Given the description of an element on the screen output the (x, y) to click on. 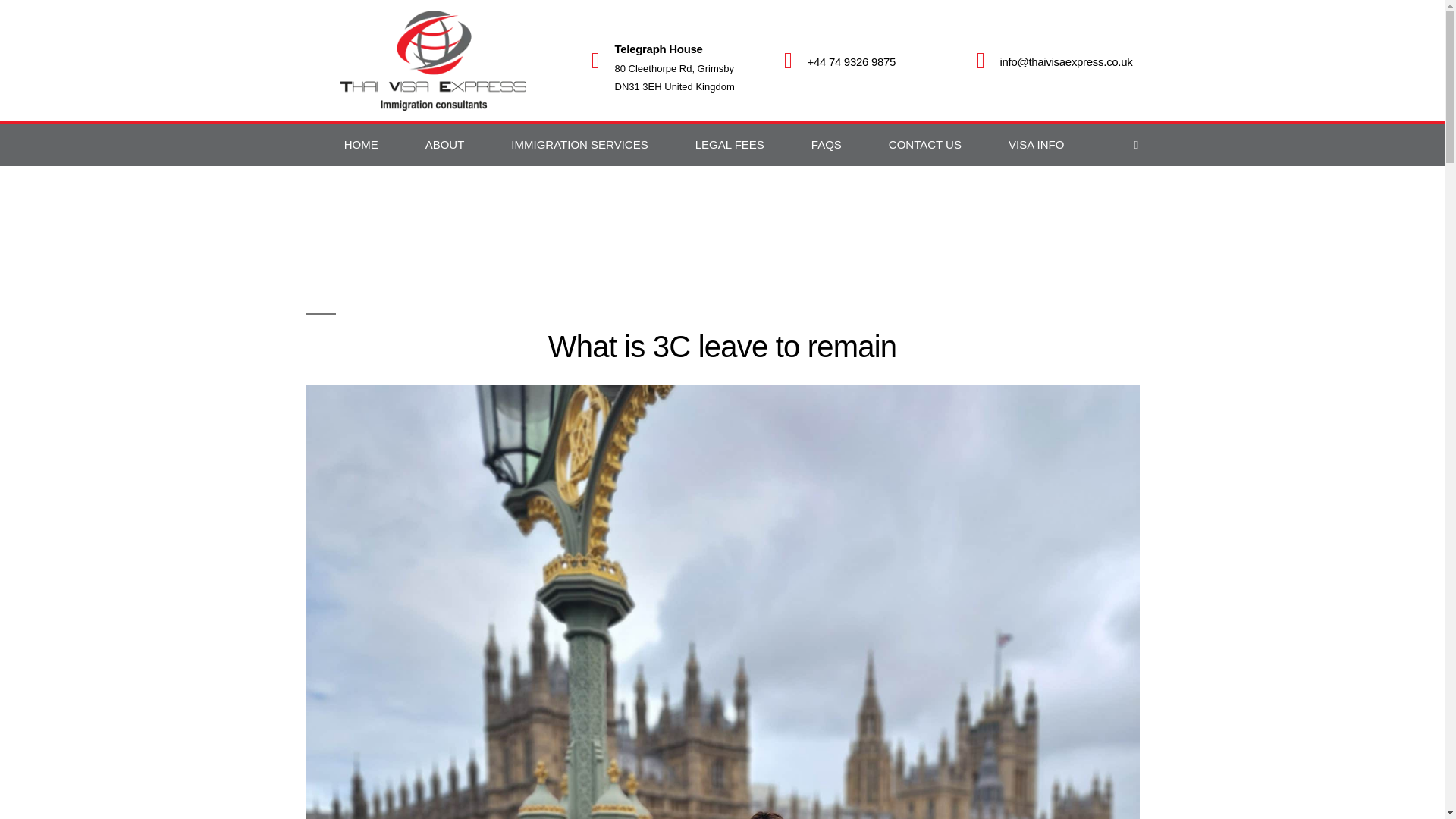
Telegraph House (657, 48)
LEGAL FEES (729, 144)
CONTACT US (924, 144)
VISA INFO (1036, 144)
IMMIGRATION SERVICES (579, 144)
HOME (360, 144)
FAQS (825, 144)
ABOUT (444, 144)
